Given the description of an element on the screen output the (x, y) to click on. 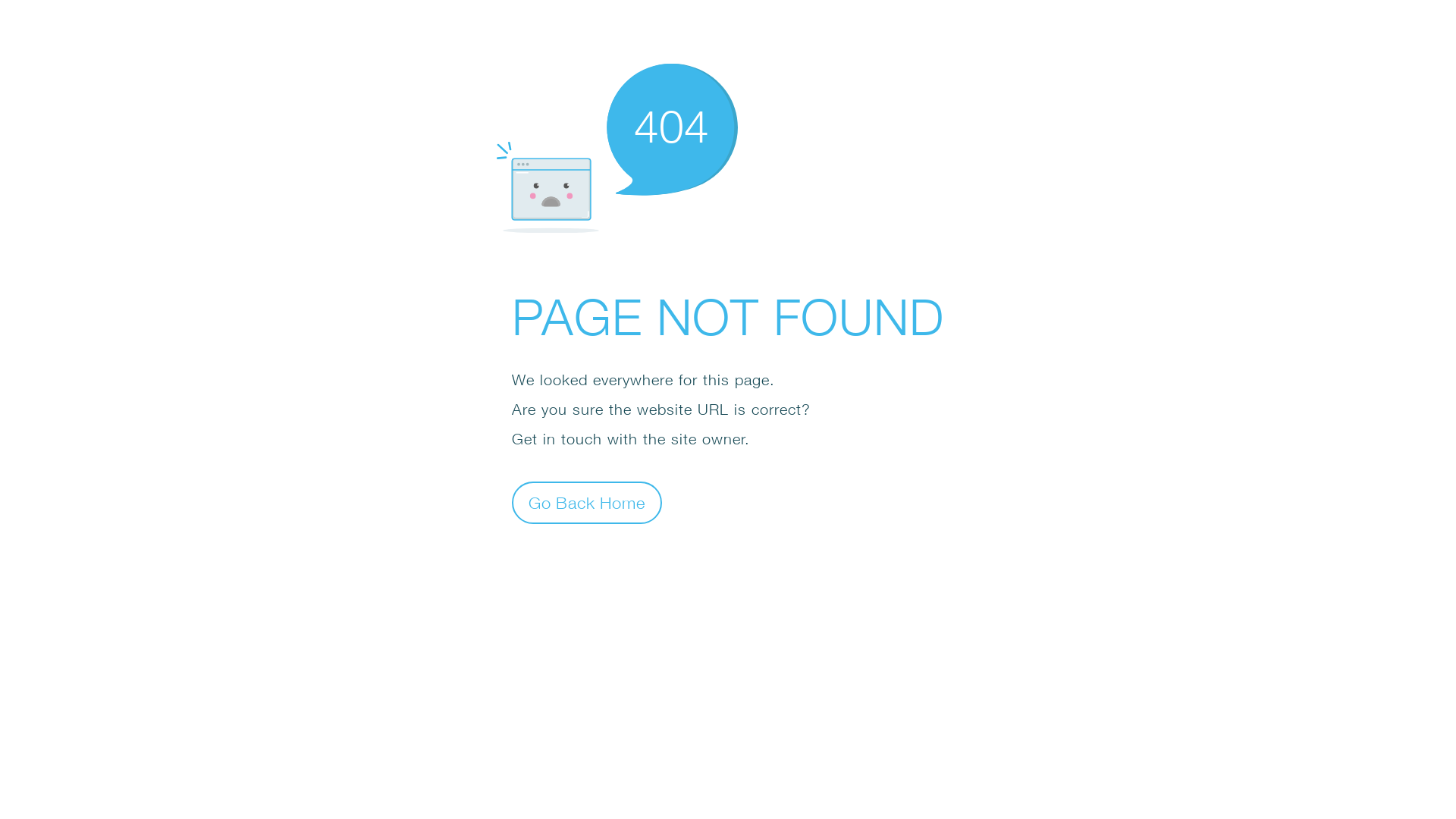
Go Back Home Element type: text (586, 502)
